Given the description of an element on the screen output the (x, y) to click on. 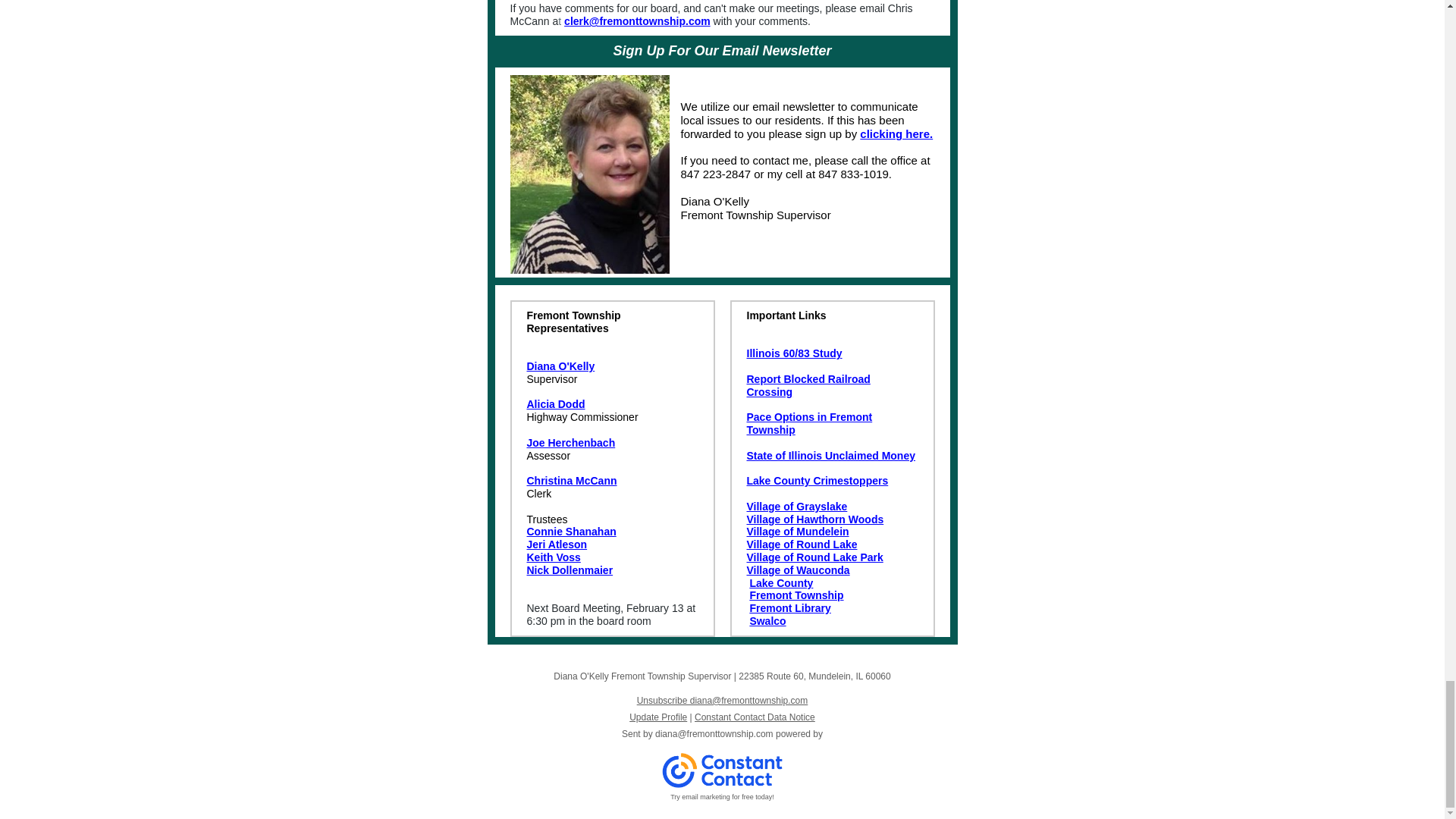
Lake County Crimestoppers (816, 480)
Pace Options in Fremont Township (808, 423)
State of Illinois Unclaimed Money (829, 455)
Try email marketing for free today! (721, 796)
Village of Wauconda (796, 570)
Update Profile (657, 716)
Alicia Dodd (555, 404)
Fremont Library (789, 607)
Joe Herchenbach (569, 442)
clicking here. (896, 133)
Village of Round Lake Park (813, 557)
Keith Voss (552, 557)
Fremont Township (796, 594)
Christina McCann (570, 480)
Village of Round Lake (801, 544)
